Given the description of an element on the screen output the (x, y) to click on. 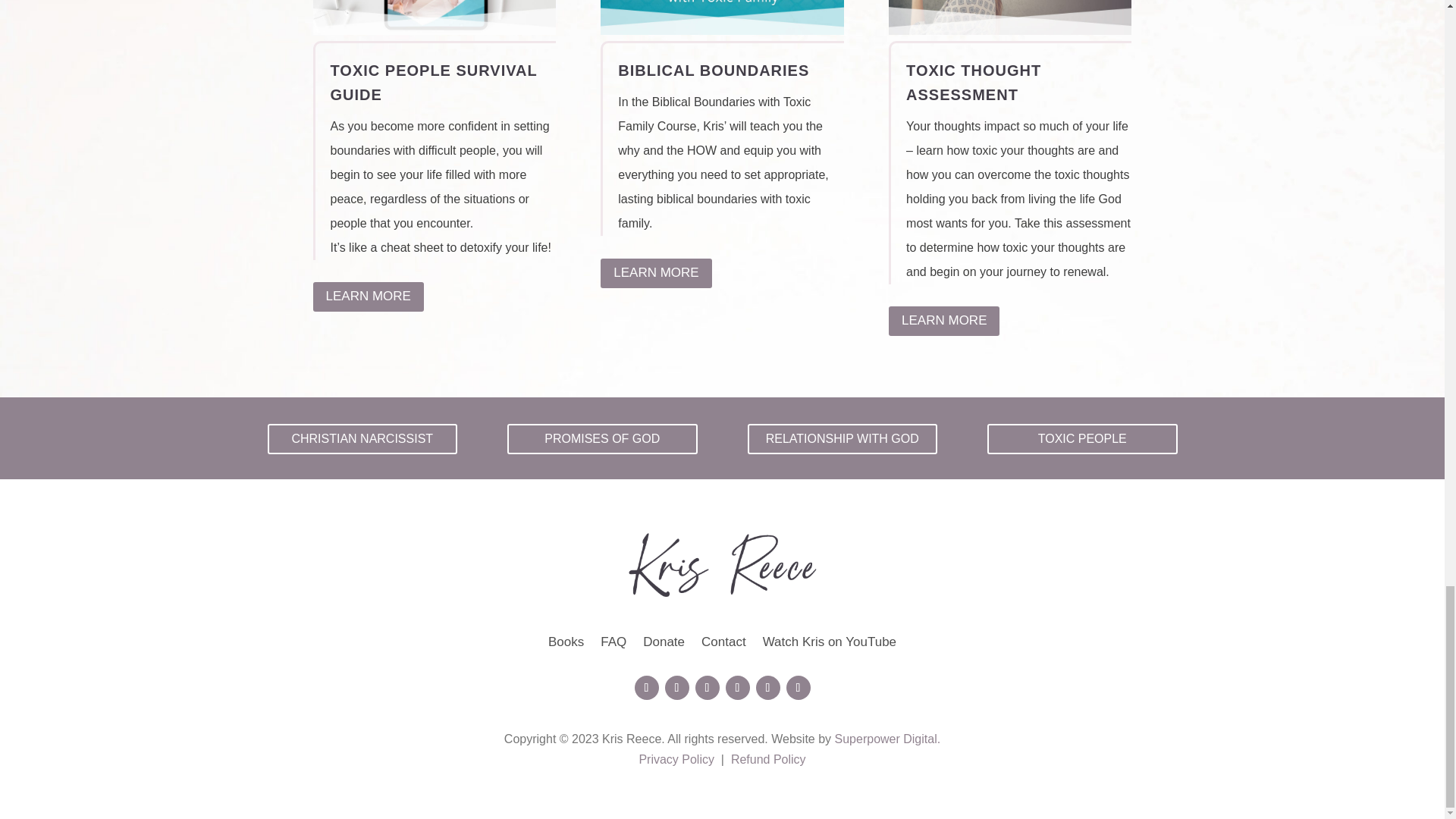
BiblicalBoundaries-Blog (721, 17)
FAQ (612, 645)
TOXIC PEOPLE (1082, 439)
ToxicPeopleSurvivalGuide-Blog (433, 17)
Contact (723, 645)
LEARN MORE (943, 320)
CHRISTIAN NARCISSIST (361, 439)
Follow on LinkedIn (797, 687)
Follow on Pinterest (766, 687)
LEARN MORE (368, 296)
